Given the description of an element on the screen output the (x, y) to click on. 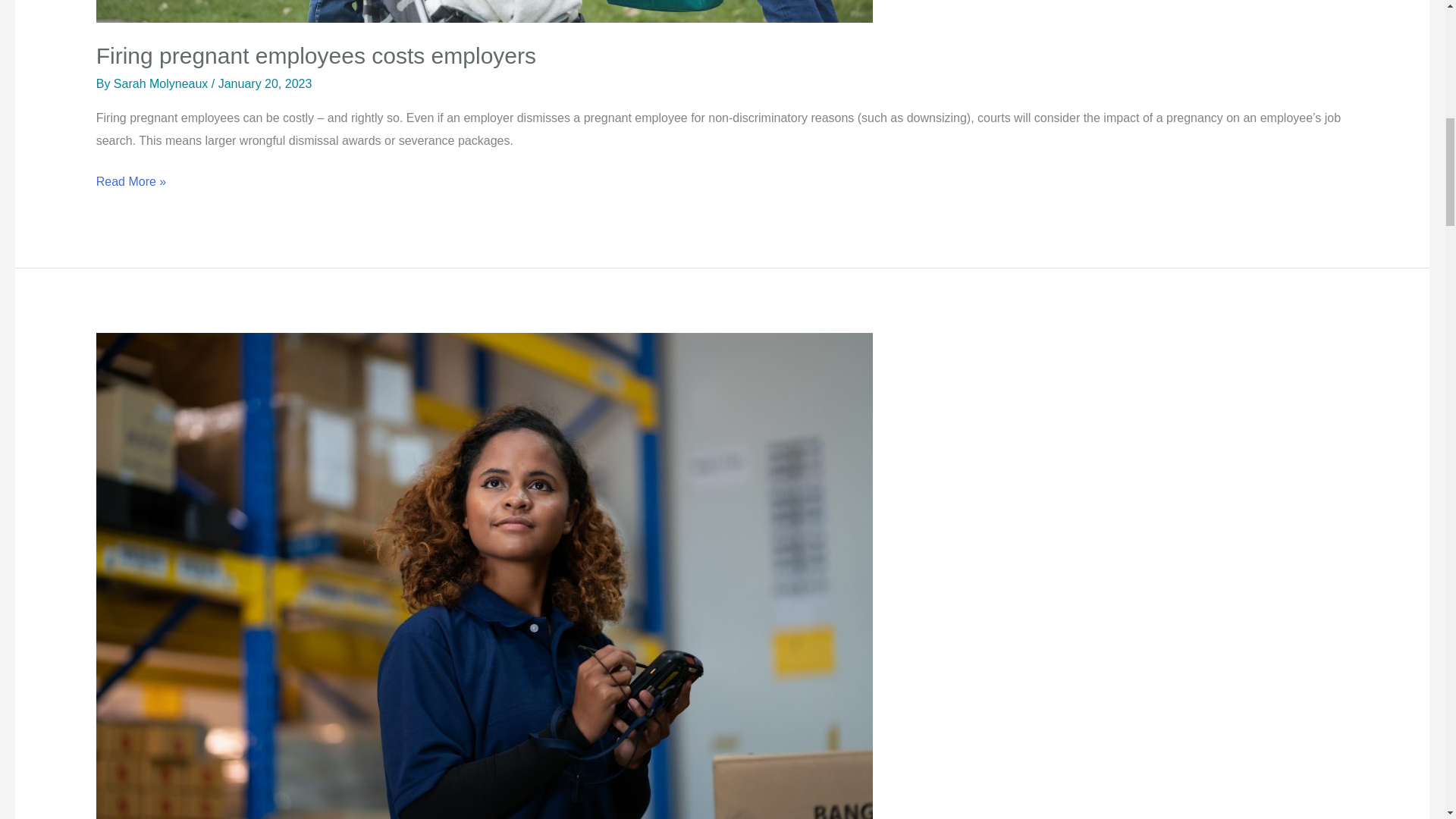
View all posts by Sarah Molyneaux (162, 83)
Sarah Molyneaux (162, 83)
Firing pregnant employees costs employers (315, 55)
